Given the description of an element on the screen output the (x, y) to click on. 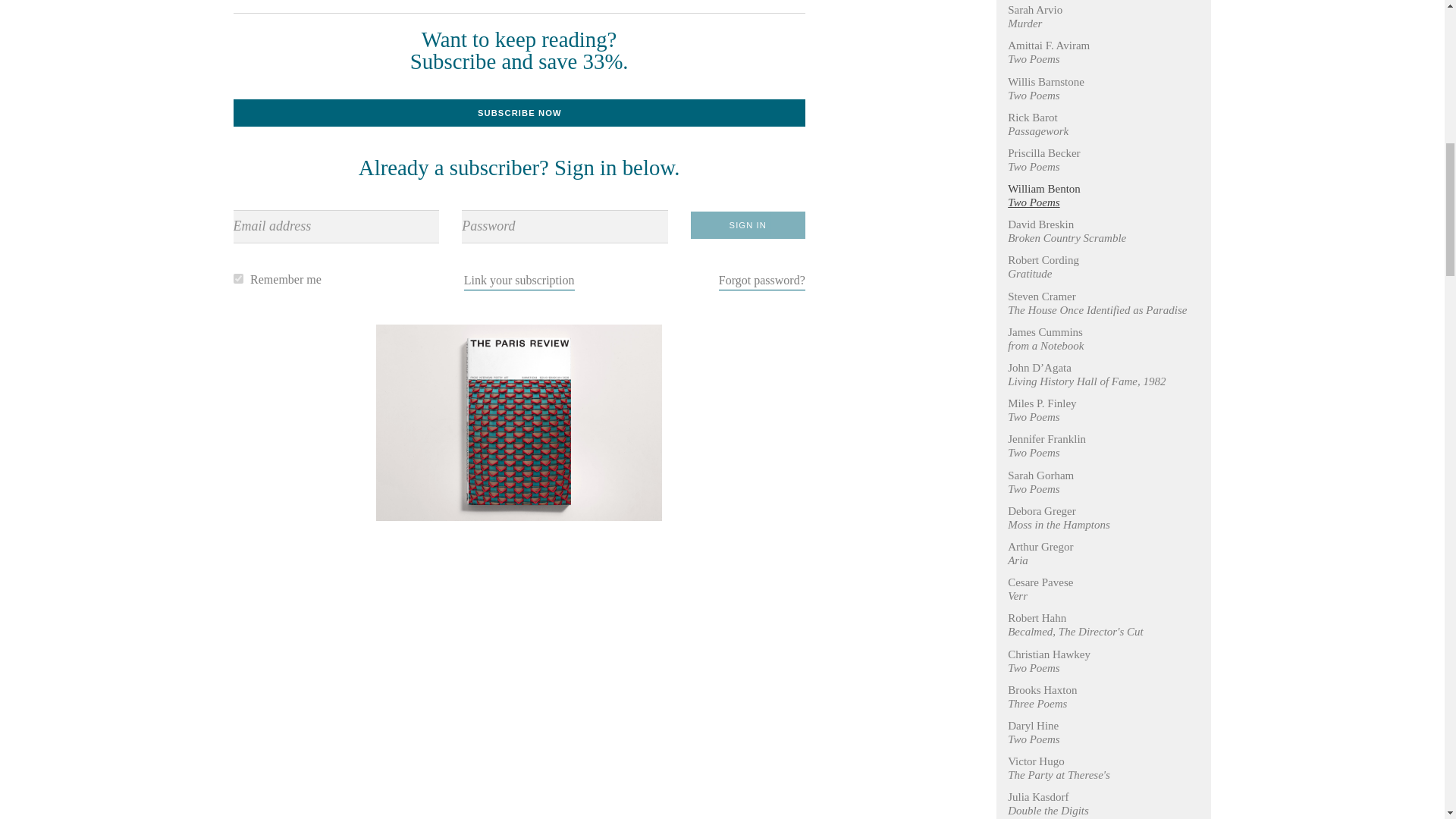
Sign In (747, 225)
remember (237, 278)
